Given the description of an element on the screen output the (x, y) to click on. 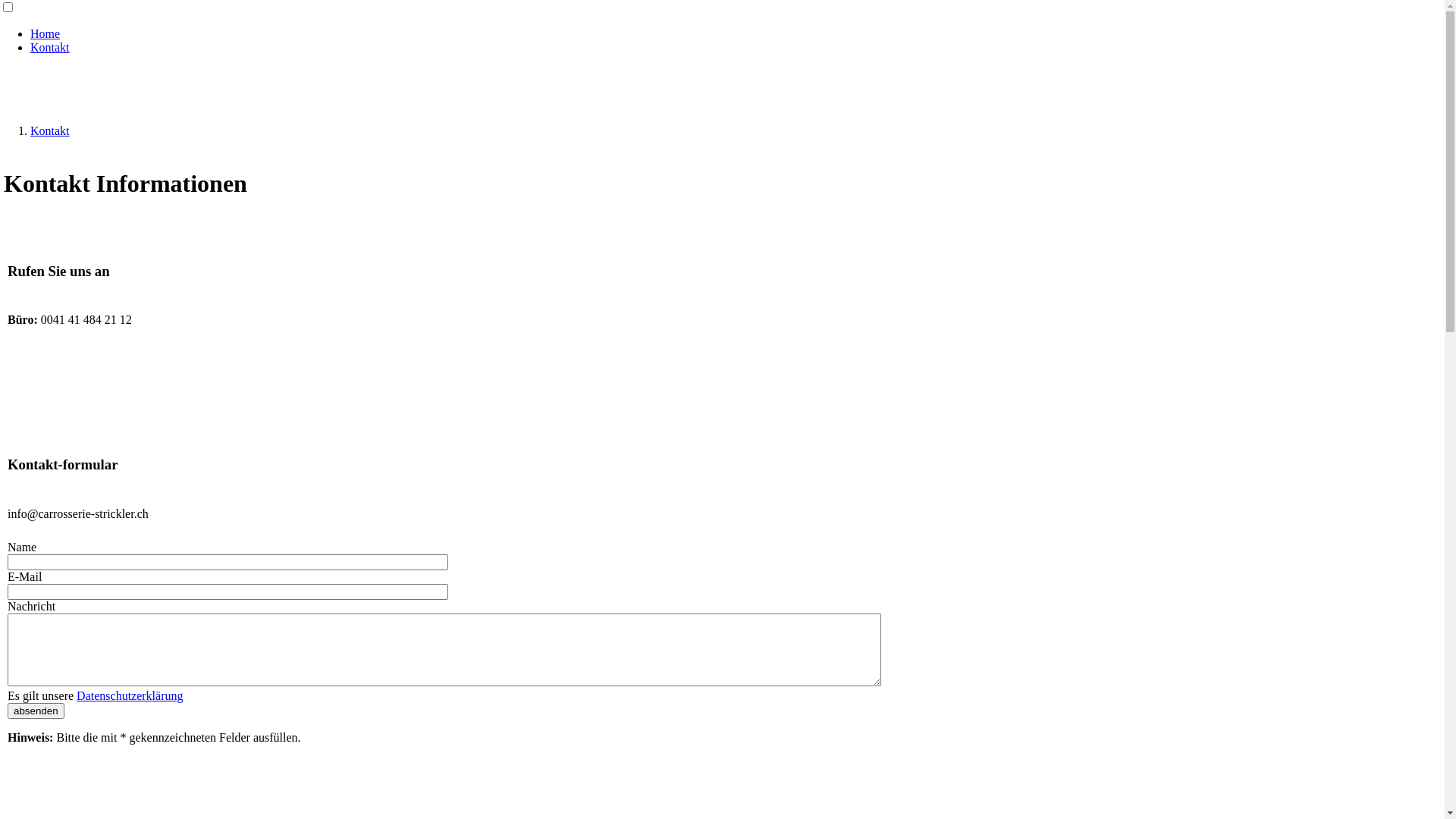
absenden Element type: text (35, 710)
Kontakt Element type: text (49, 130)
Home Element type: text (44, 33)
Kontakt Element type: text (49, 46)
